Given the description of an element on the screen output the (x, y) to click on. 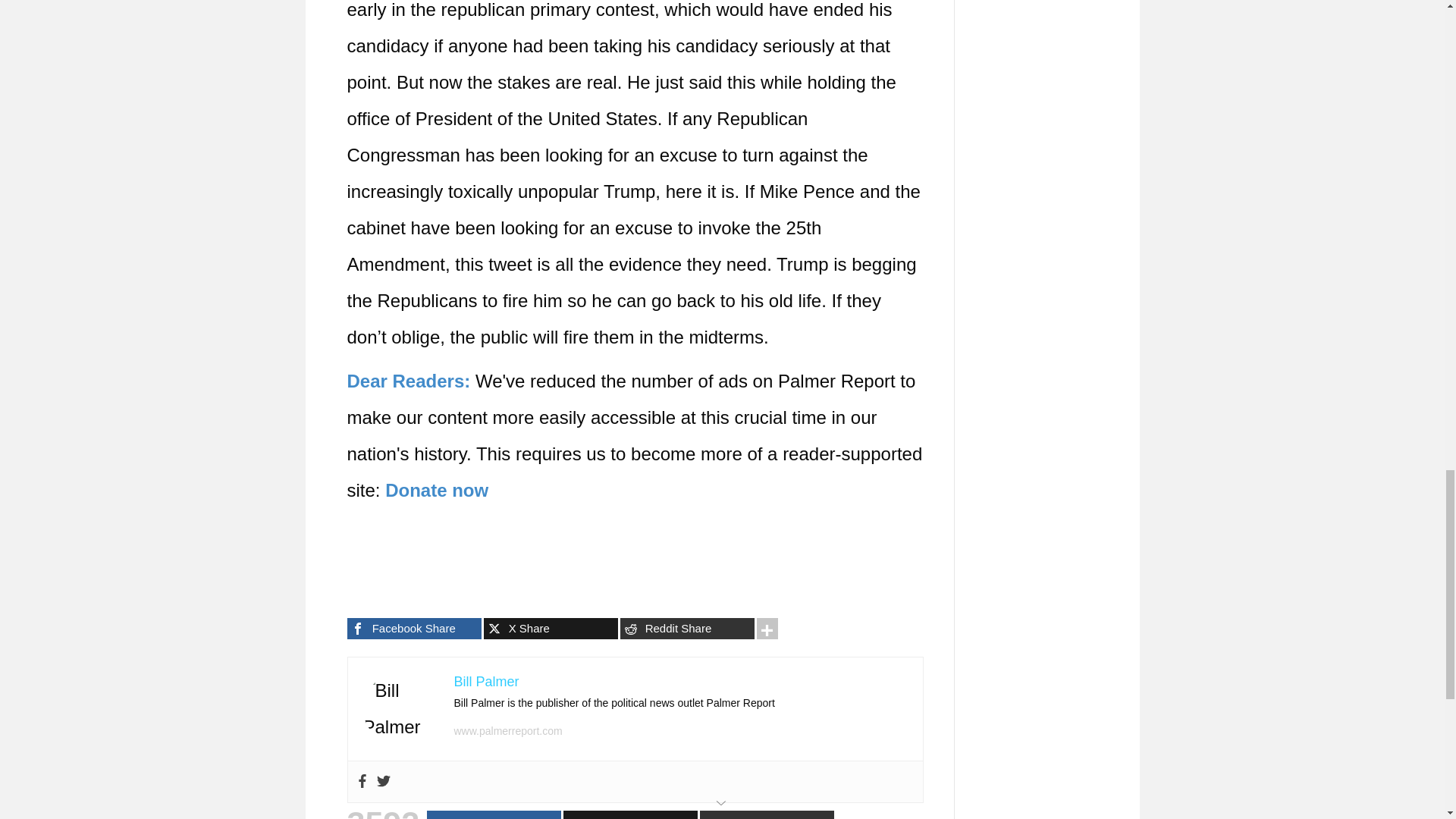
Dear Readers: (408, 381)
Donate now (436, 489)
X Share (550, 628)
Facebook Share (414, 628)
Reddit Share (687, 628)
